Given the description of an element on the screen output the (x, y) to click on. 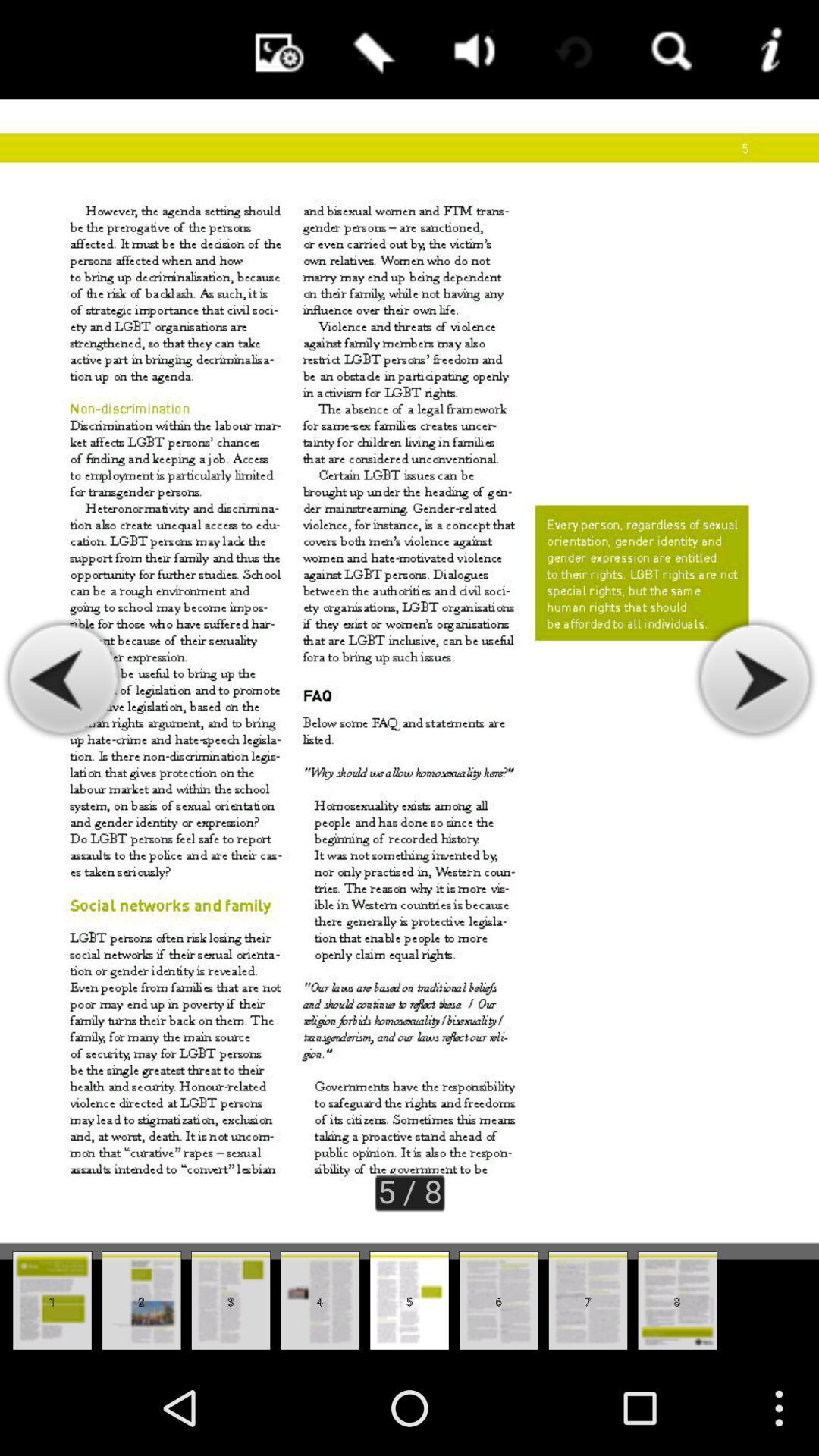
tap app above the 5 / 8 item (470, 49)
